Given the description of an element on the screen output the (x, y) to click on. 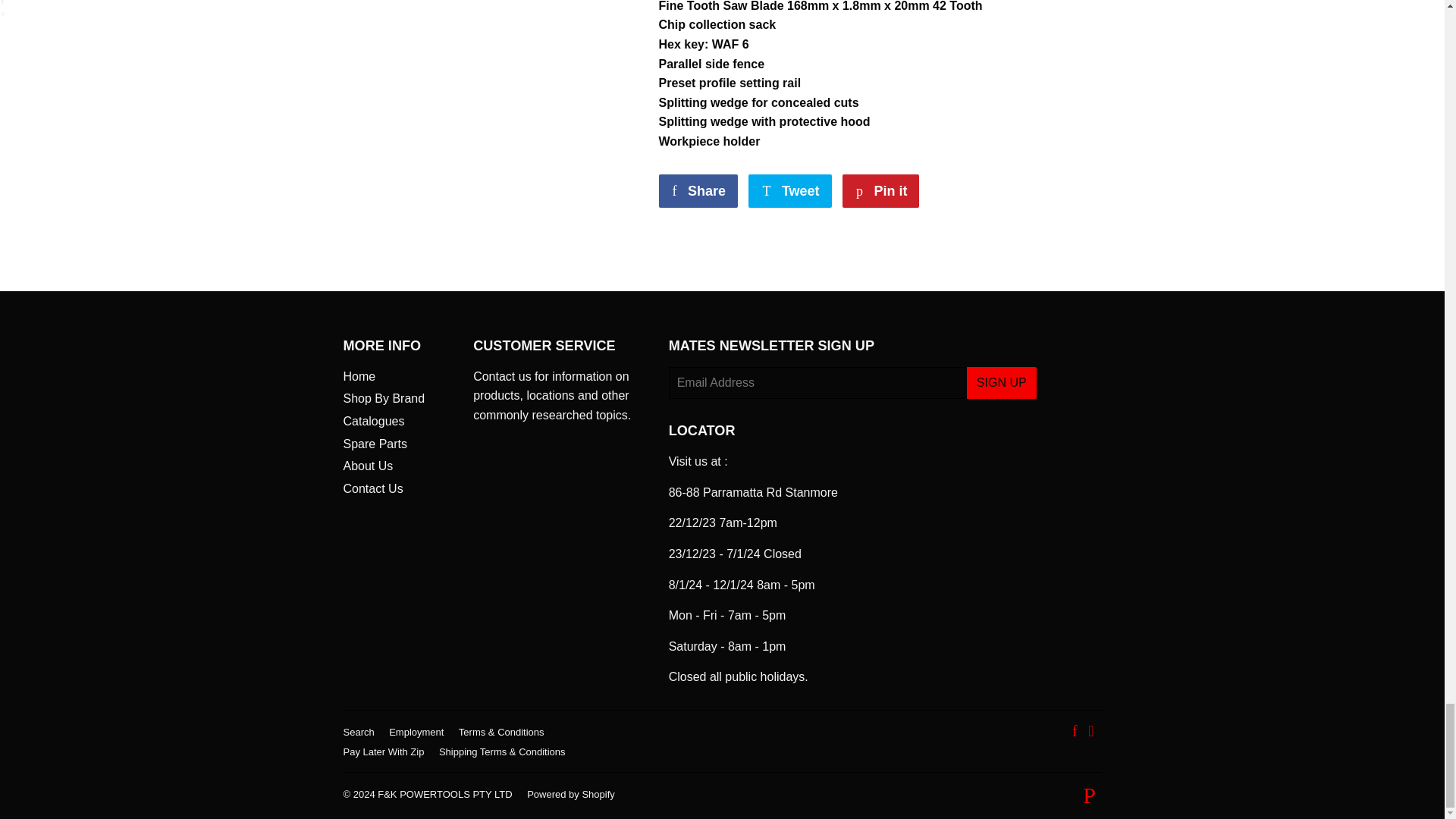
Pin on Pinterest (697, 191)
Tweet on Twitter (880, 191)
Share on Facebook (789, 191)
